Given the description of an element on the screen output the (x, y) to click on. 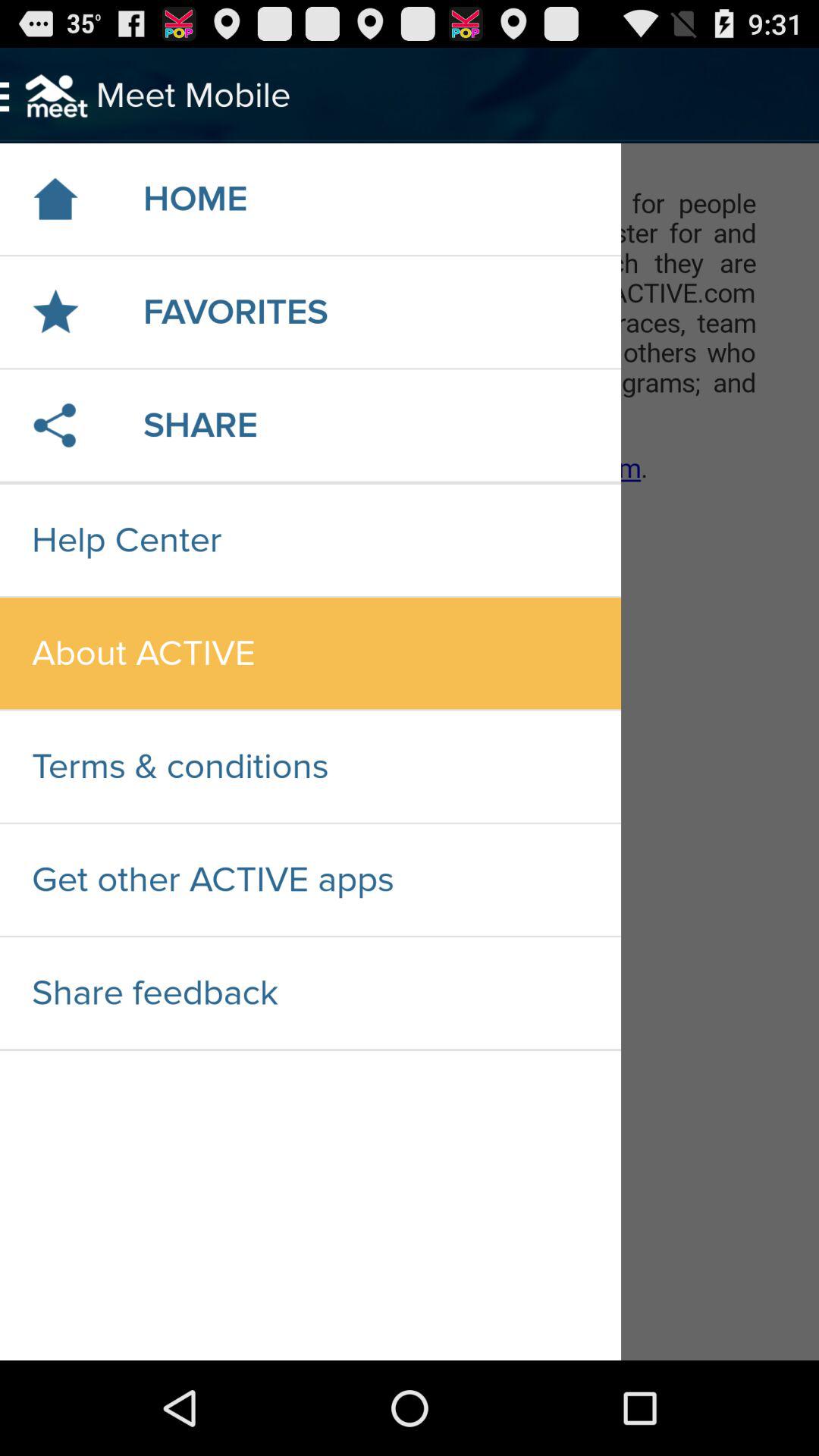
swipe to get other active item (310, 879)
